Given the description of an element on the screen output the (x, y) to click on. 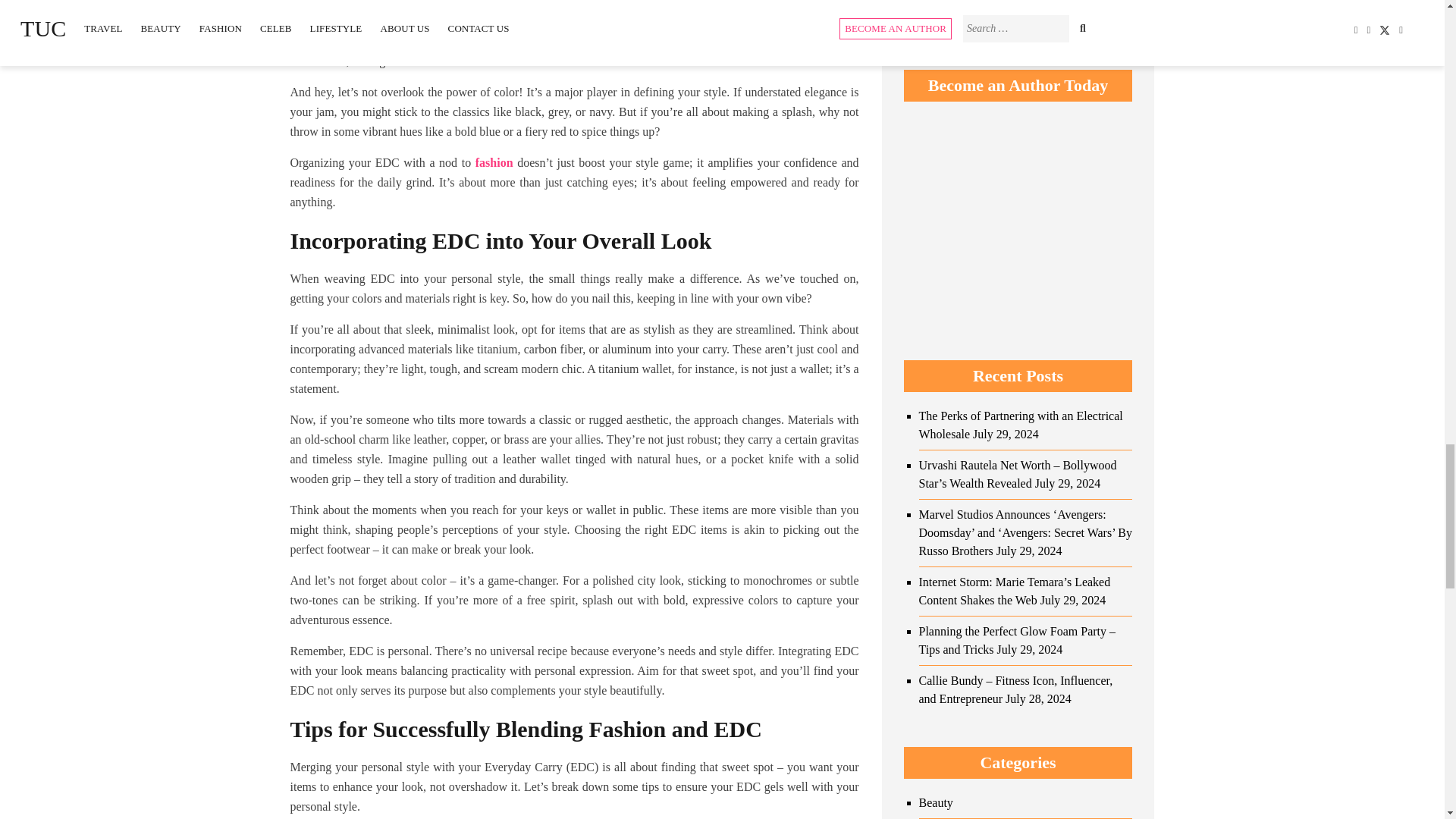
fashion (494, 162)
